Given the description of an element on the screen output the (x, y) to click on. 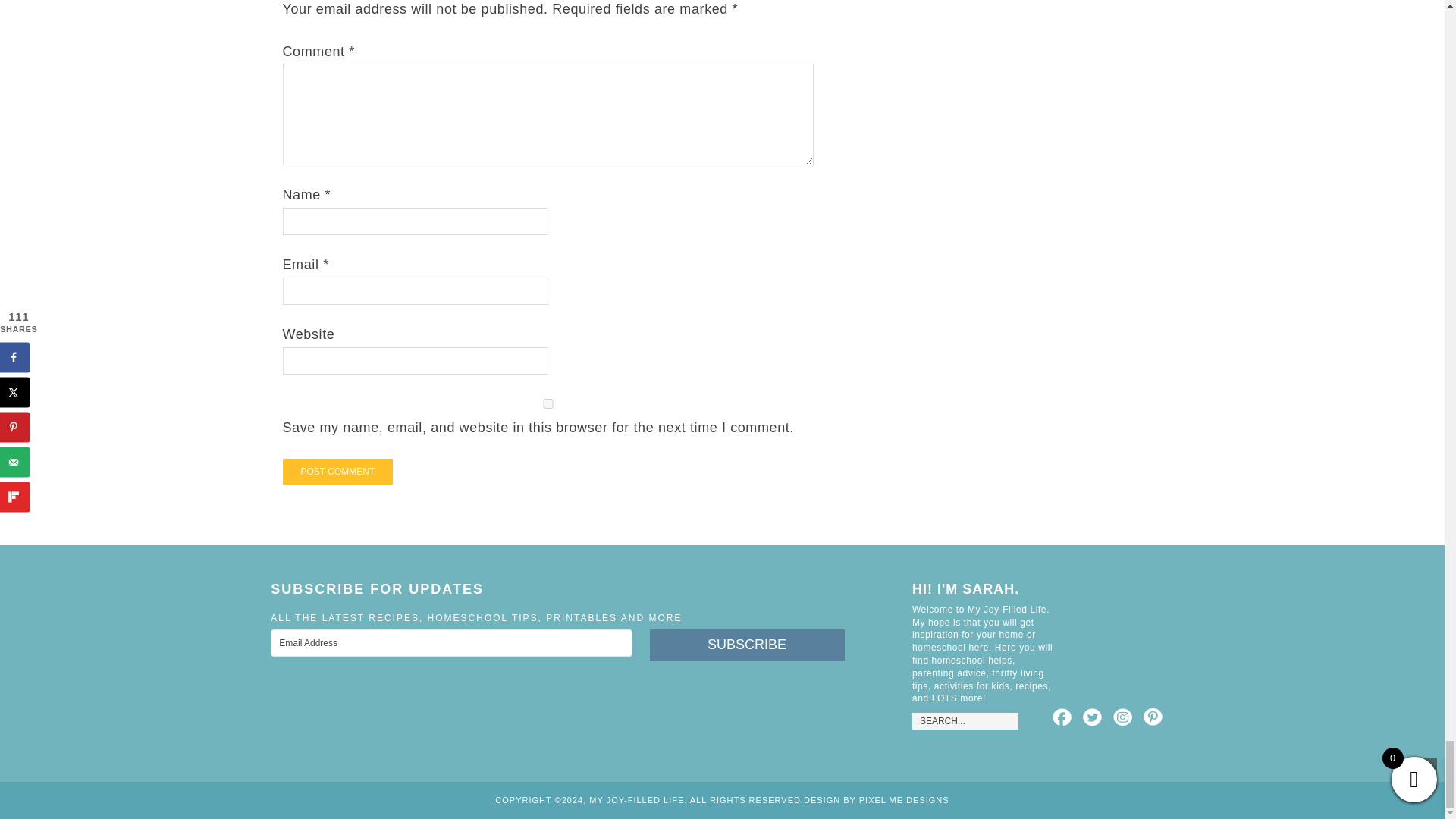
Post Comment (337, 471)
yes (547, 403)
